Given the description of an element on the screen output the (x, y) to click on. 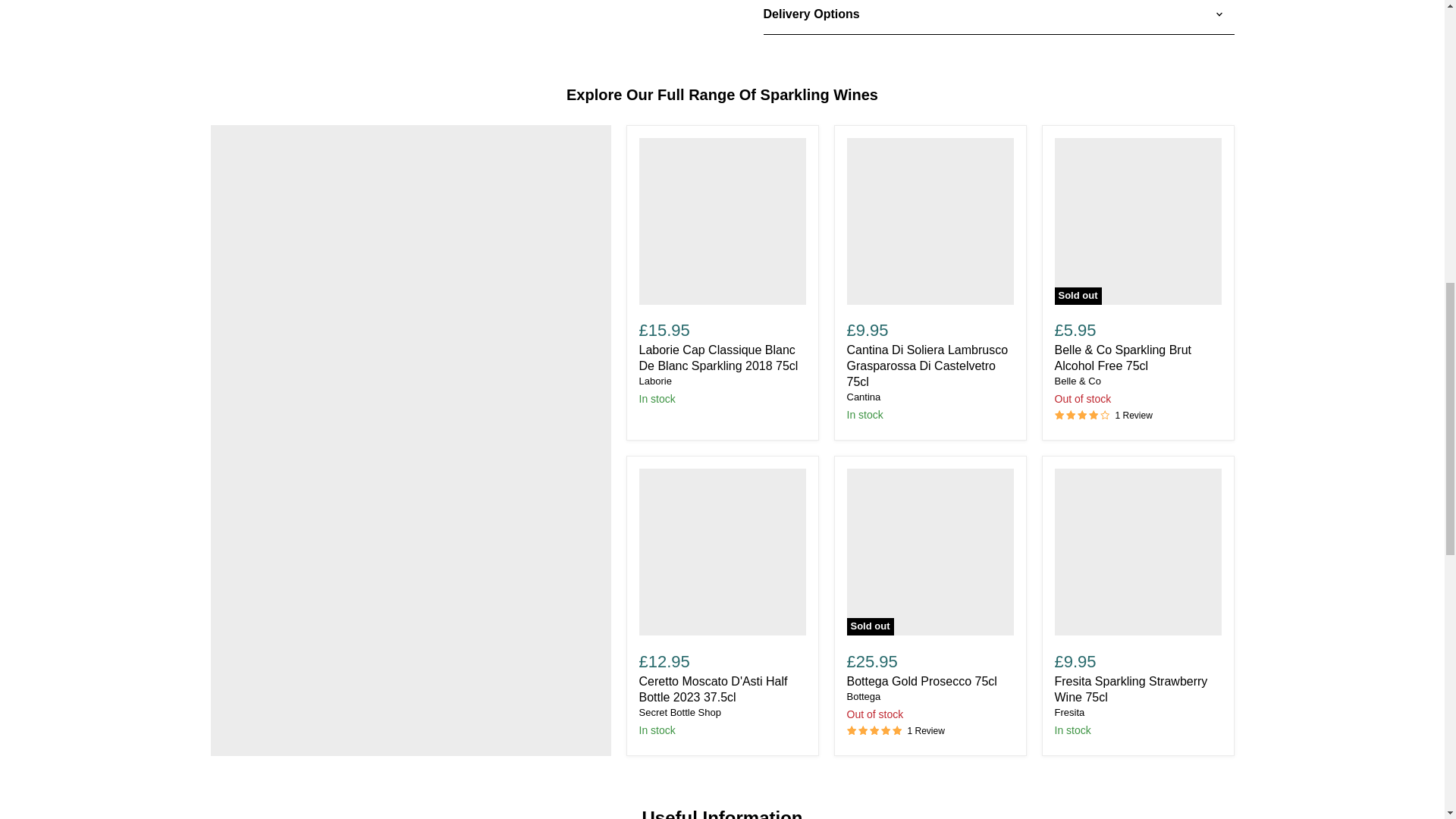
Cantina (862, 396)
Bottega (862, 696)
Laborie (655, 380)
Secret Bottle Shop (679, 712)
Fresita (1069, 712)
